Given the description of an element on the screen output the (x, y) to click on. 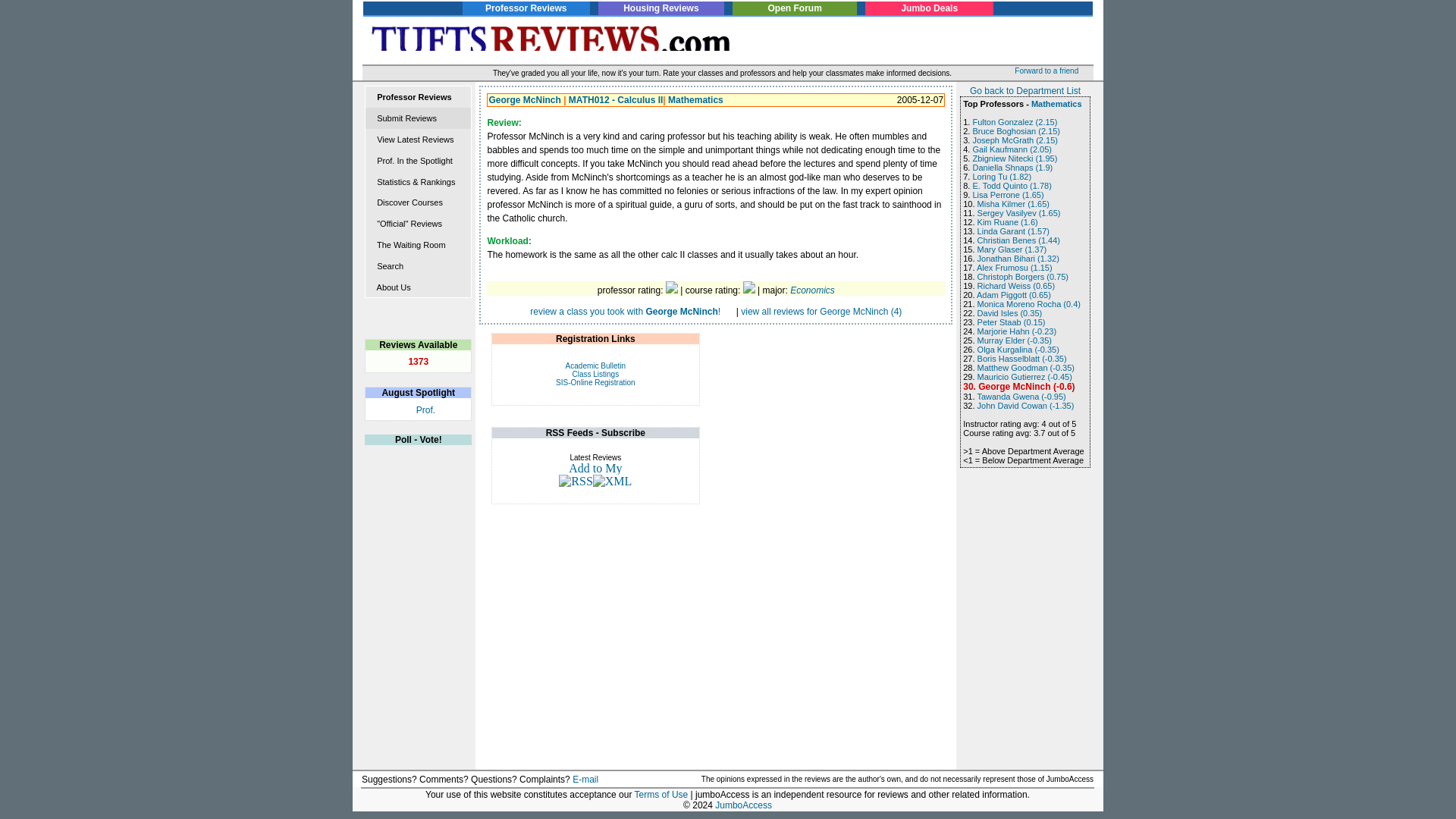
Prof. (425, 409)
Economics (812, 290)
SIS-Online Registration (595, 382)
Go back to Department List (1024, 90)
MATH012 - Calculus II (615, 100)
Academic Bulletin (596, 365)
Forward to a friend (1053, 70)
Mathematics (695, 100)
review a class you took with George McNinch! (624, 311)
Class Listings (595, 374)
